Given the description of an element on the screen output the (x, y) to click on. 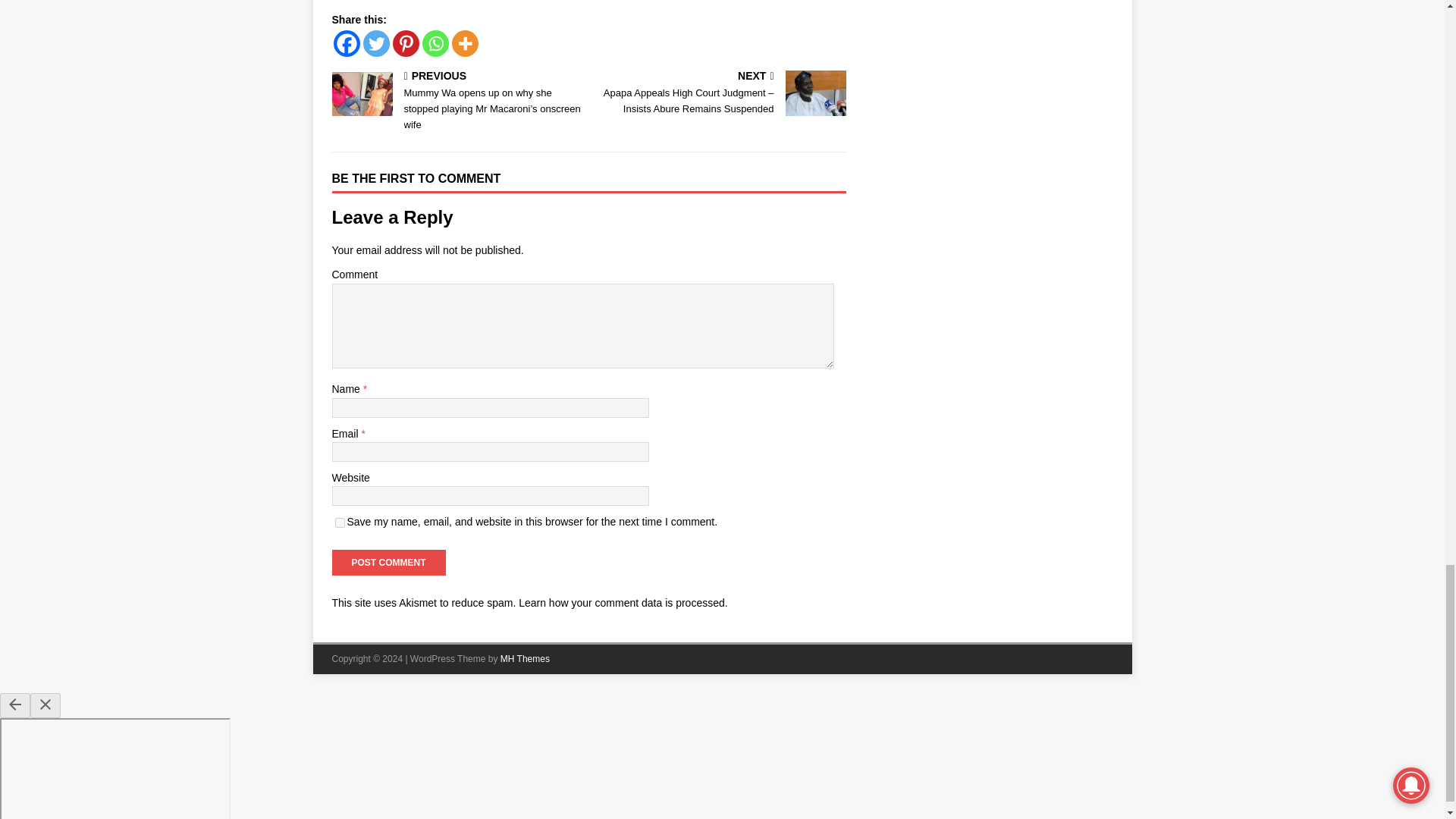
Post Comment (388, 562)
Learn how your comment data is processed (621, 603)
yes (339, 522)
Post Comment (388, 562)
